Given the description of an element on the screen output the (x, y) to click on. 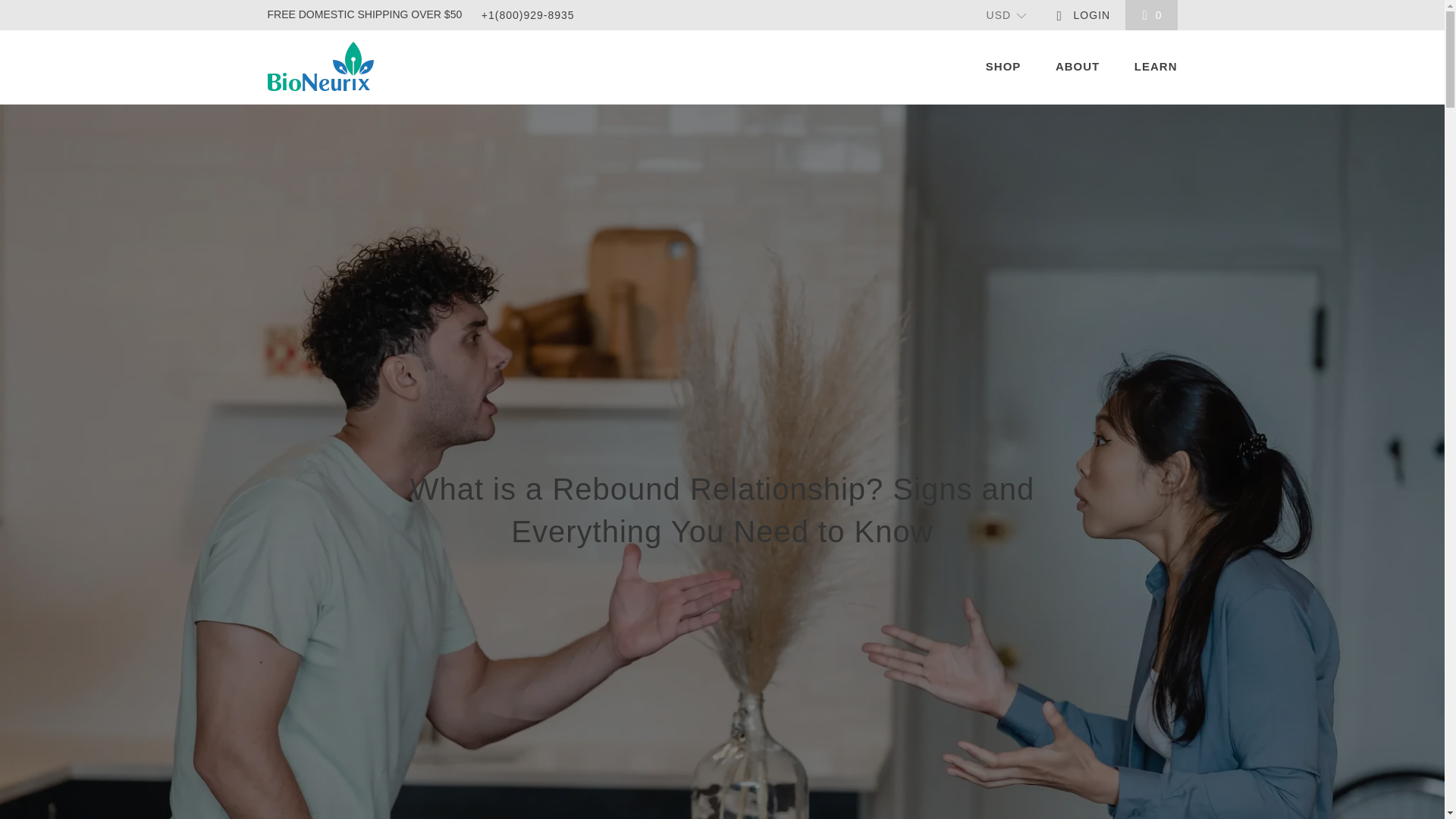
LOGIN (1082, 15)
ABOUT (1077, 66)
LEARN (1155, 66)
0 (1150, 15)
BioNeurix (339, 66)
My Account  (1082, 15)
